Given the description of an element on the screen output the (x, y) to click on. 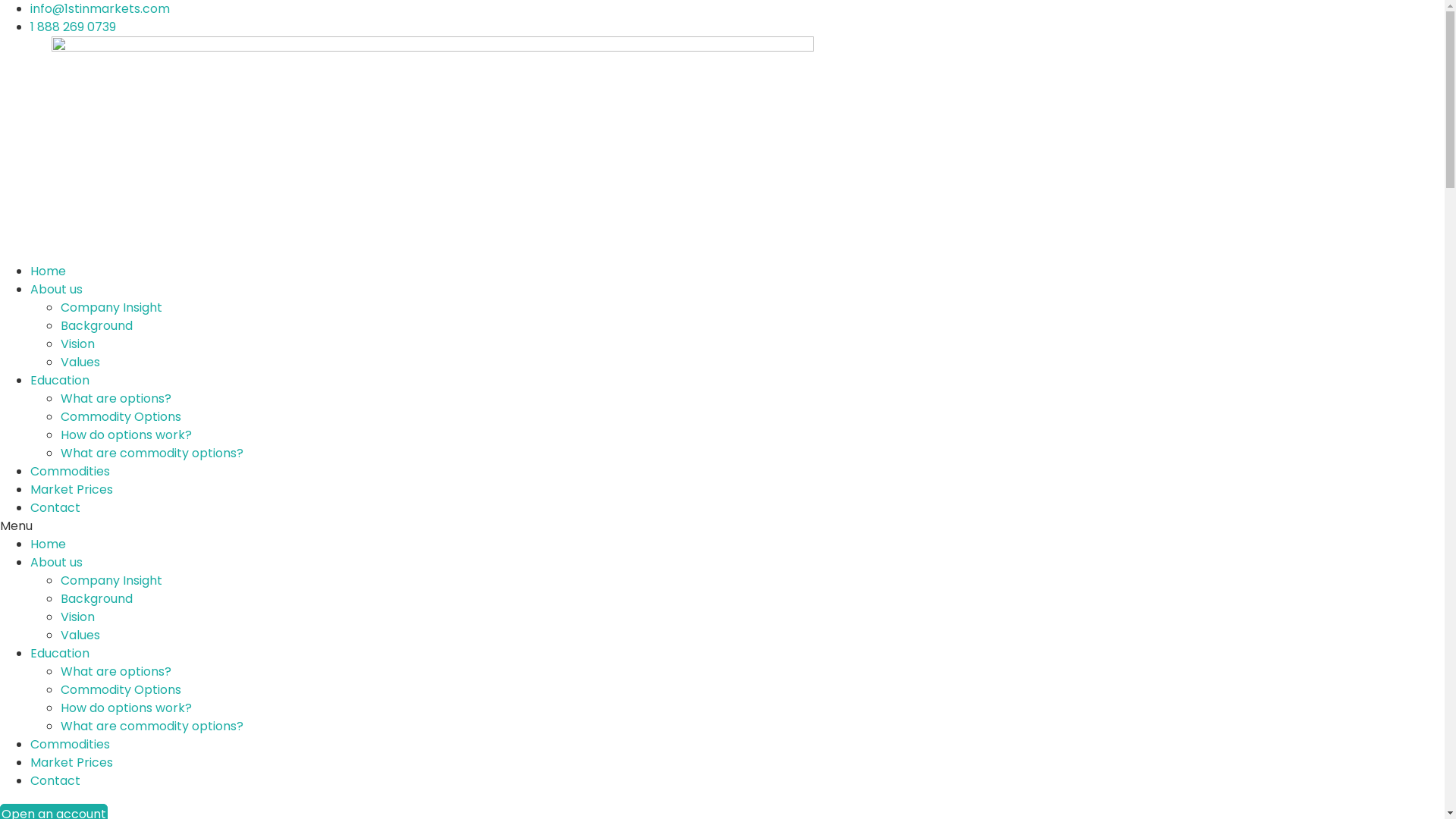
Background Element type: text (96, 598)
Education Element type: text (59, 380)
Market Prices Element type: text (71, 762)
Commodity Options Element type: text (120, 689)
Commodities Element type: text (69, 744)
Commodities Element type: text (69, 471)
Values Element type: text (80, 634)
What are options? Element type: text (115, 398)
Vision Element type: text (77, 616)
Home Element type: text (47, 270)
Education Element type: text (59, 653)
Contact Element type: text (55, 780)
What are options? Element type: text (115, 671)
Vision Element type: text (77, 343)
Company Insight Element type: text (111, 580)
Background Element type: text (96, 325)
How do options work? Element type: text (125, 434)
Company Insight Element type: text (111, 307)
Market Prices Element type: text (71, 489)
How do options work? Element type: text (125, 707)
Skip to content Element type: text (0, 0)
About us Element type: text (56, 562)
Contact Element type: text (55, 507)
Values Element type: text (80, 361)
1 888 269 0739 Element type: text (73, 26)
What are commodity options? Element type: text (151, 725)
Home Element type: text (47, 543)
Commodity Options Element type: text (120, 416)
What are commodity options? Element type: text (151, 452)
About us Element type: text (56, 289)
info@1stinmarkets.com Element type: text (99, 8)
